Given the description of an element on the screen output the (x, y) to click on. 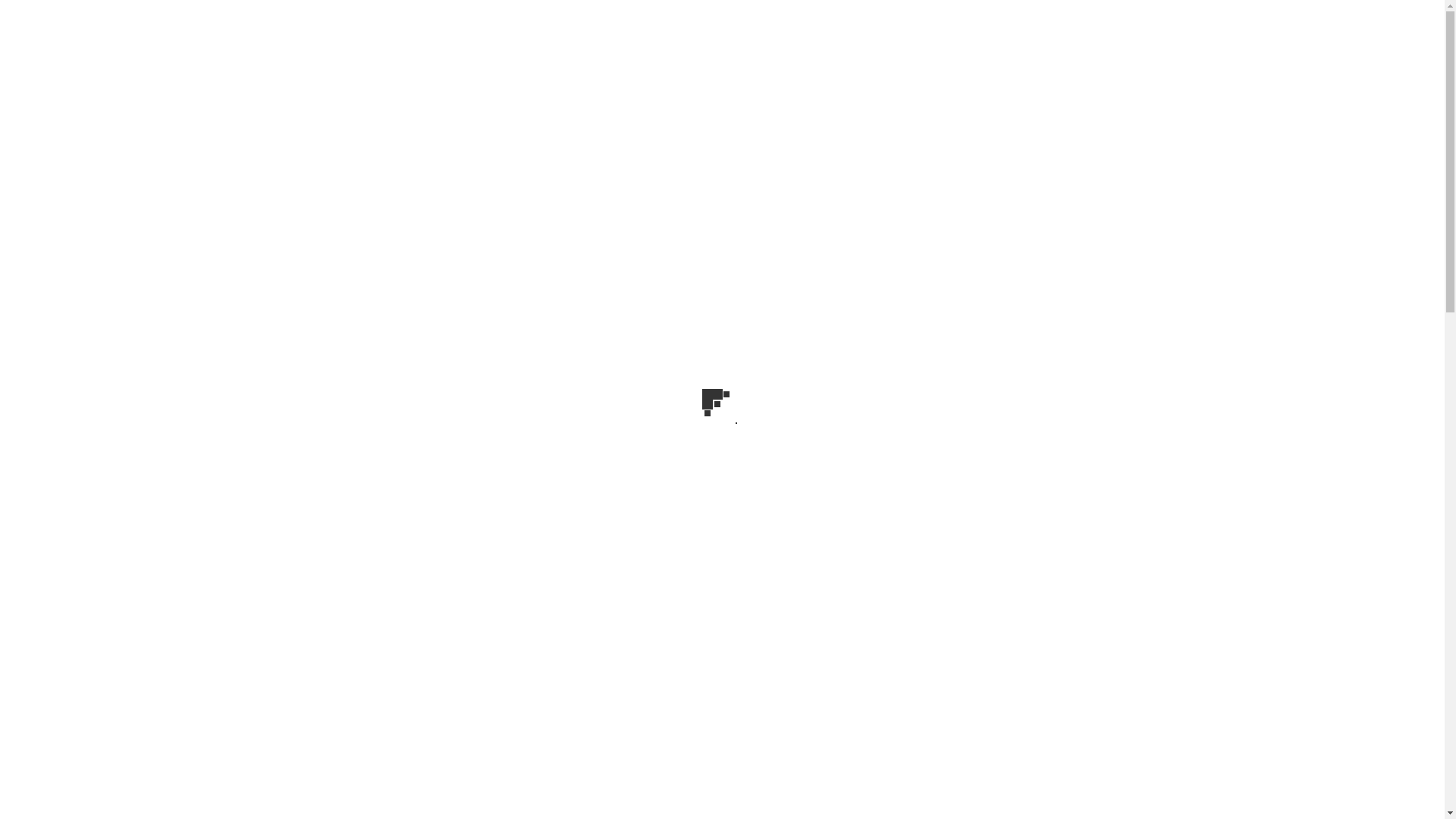
HOME Element type: text (640, 401)
st Element type: text (1114, 474)
COMPUMANIA.BE Element type: text (722, 175)
3 Must-see websites: Cadeaus, vakantietips & dierenplezier! Element type: text (1005, 688)
De kracht van Petit Forestier Element type: text (1000, 567)
NIEUWS Element type: text (704, 401)
CONTACT Element type: text (785, 402)
